Given the description of an element on the screen output the (x, y) to click on. 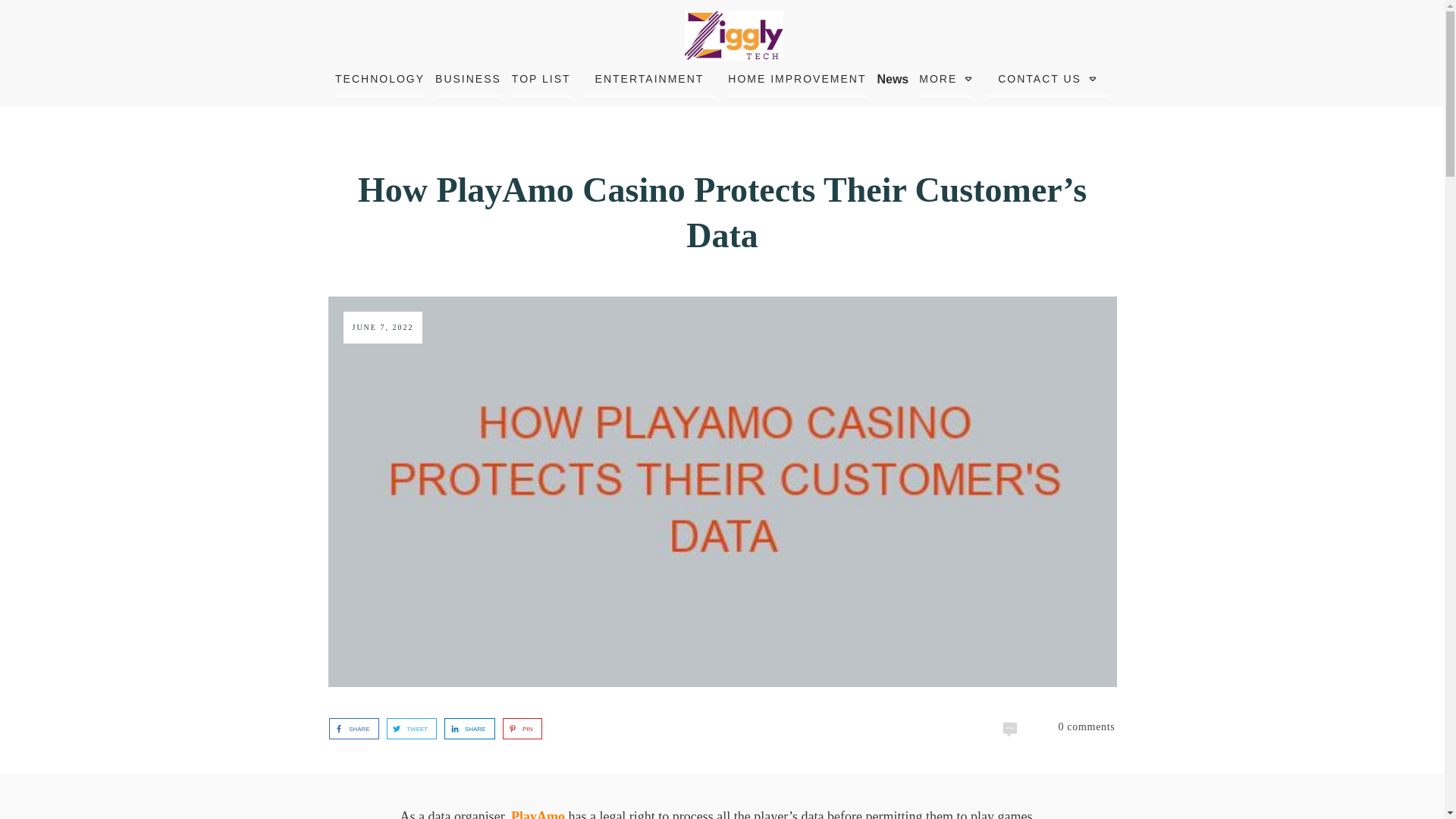
TECHNOLOGY (379, 78)
News (892, 79)
TWEET (407, 728)
HOME IMPROVEMENT (797, 78)
TOP LIST (541, 78)
ENTERTAINMENT (649, 78)
SHARE (349, 728)
PIN (517, 728)
SHARE (464, 728)
PlayAmo (537, 814)
MORE (946, 78)
CONTACT US (1047, 78)
BUSINESS (467, 78)
